Given the description of an element on the screen output the (x, y) to click on. 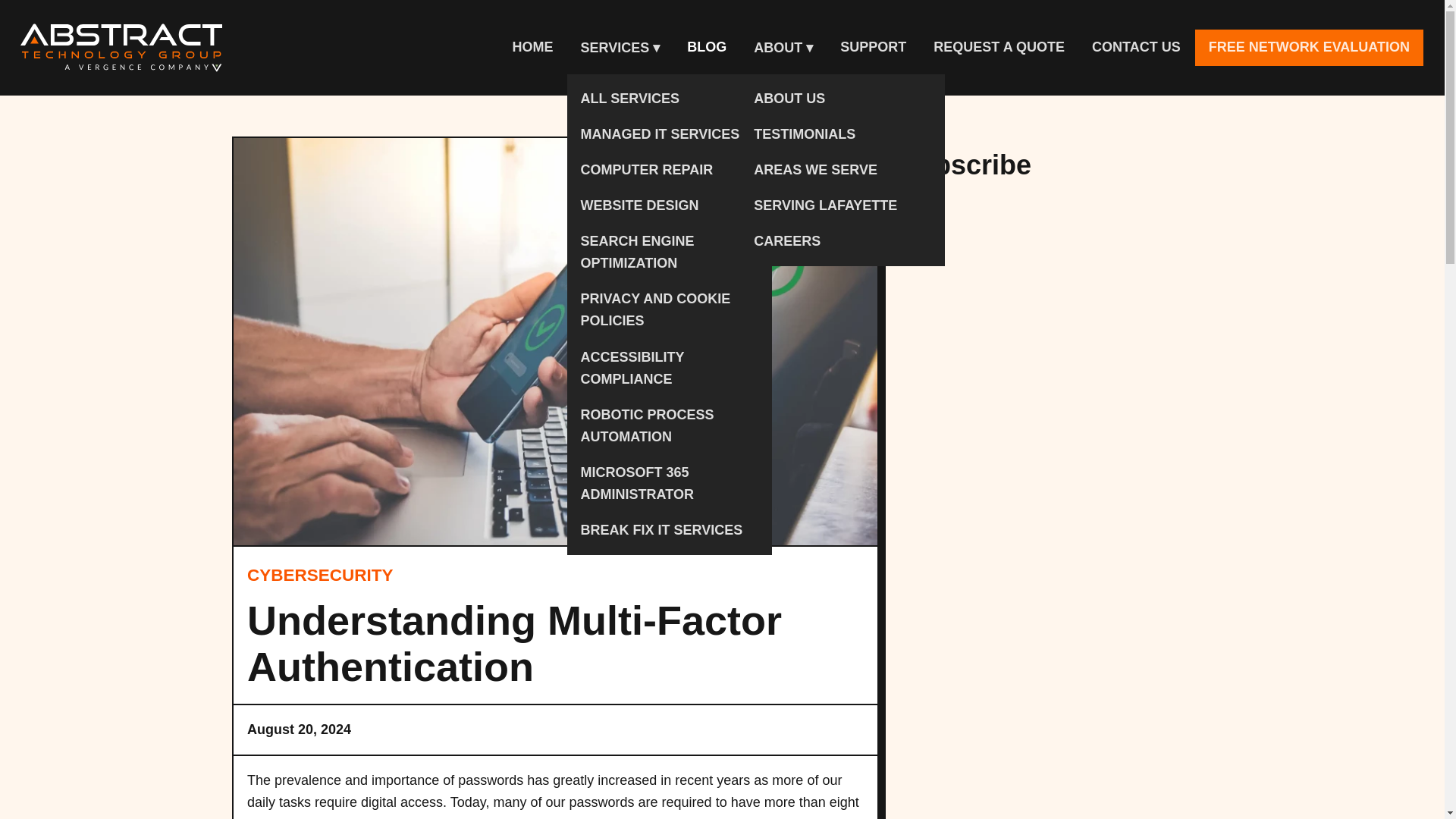
MICROSOFT 365 ADMINISTRATOR (669, 483)
CYBERSECURITY (320, 575)
CONTACT US (1135, 47)
CAREERS (841, 241)
BREAK FIX IT SERVICES (669, 529)
REQUEST A QUOTE (999, 47)
SUPPORT (873, 47)
WEBSITE DESIGN (669, 205)
ROBOTIC PROCESS AUTOMATION (669, 426)
AREAS WE SERVE (841, 170)
